Given the description of an element on the screen output the (x, y) to click on. 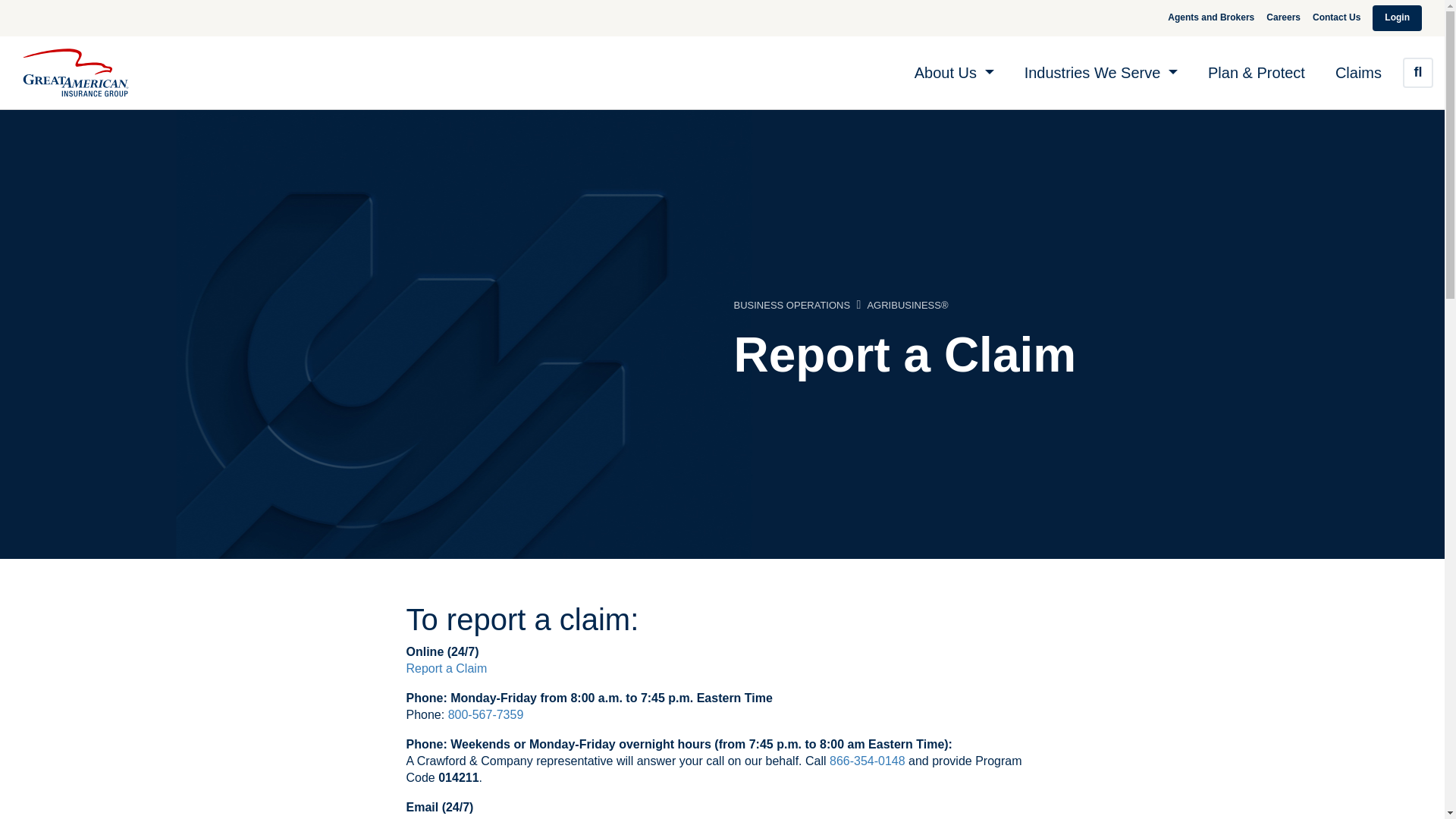
Agents and Brokers (1210, 17)
Search (1417, 72)
About Us (954, 72)
Login (1397, 17)
Great American Insurance Group (76, 72)
Contact Us (1336, 17)
Careers (1283, 17)
